Given the description of an element on the screen output the (x, y) to click on. 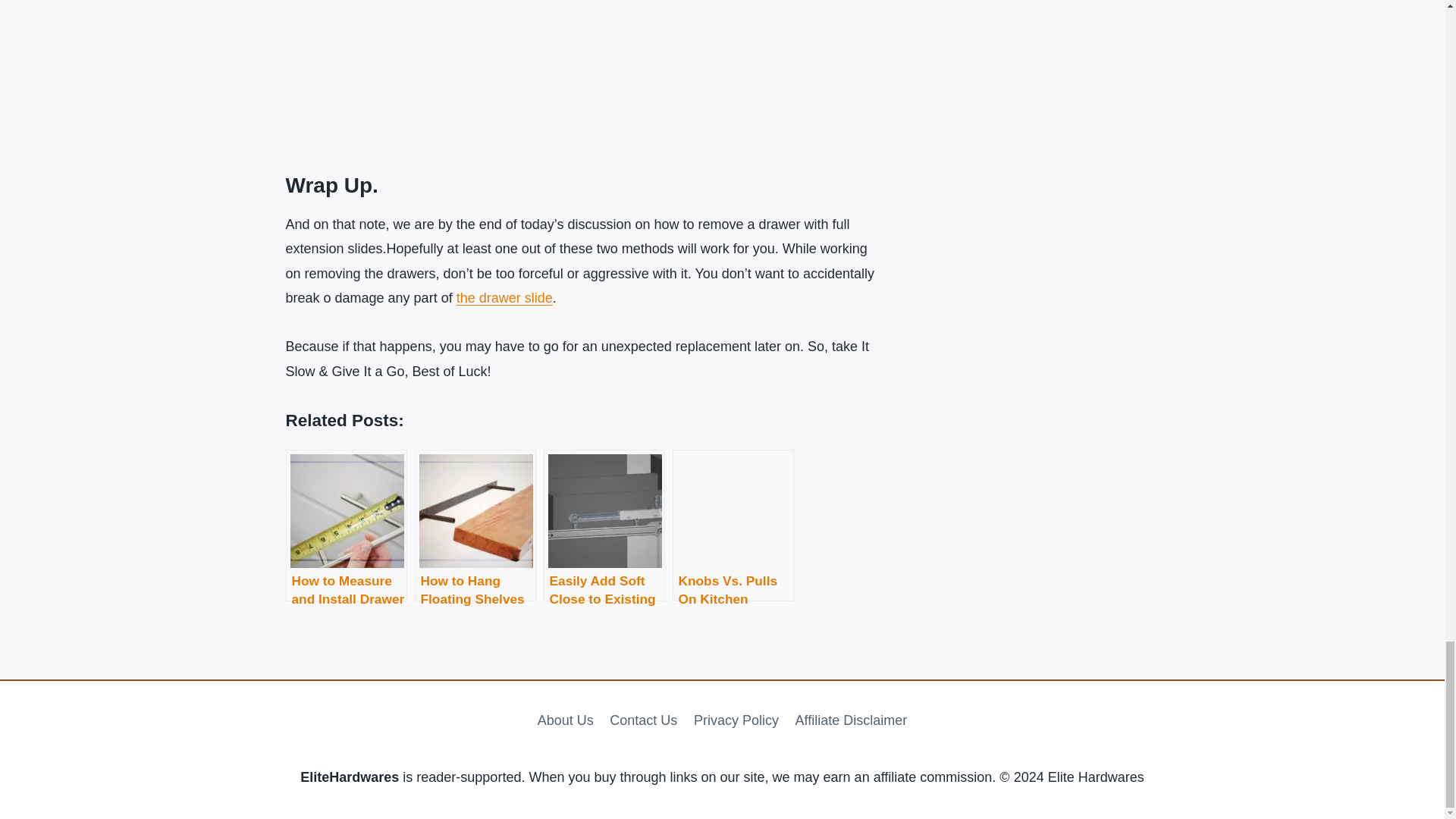
the drawer slide (505, 297)
About Us (565, 719)
Contact Us (643, 719)
How to Remove A Drawer with Full Extension Guides (580, 69)
Privacy Policy (736, 719)
Affiliate Disclaimer (851, 719)
